Given the description of an element on the screen output the (x, y) to click on. 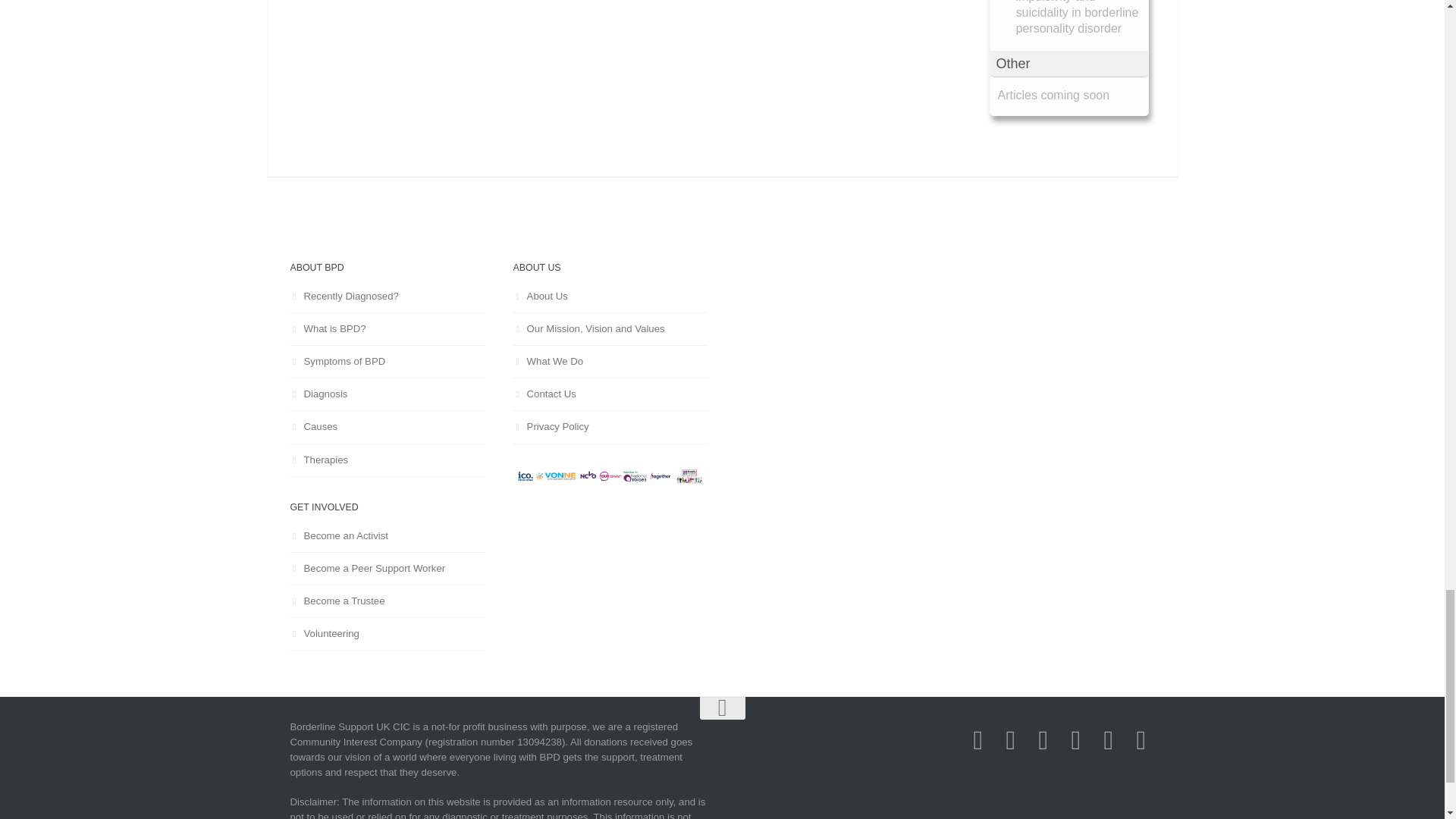
Follow us on Youtube (1107, 740)
Follow us on Twitter (1010, 740)
Follow us on Linkedin (1075, 740)
Follow us on Pinterest (1140, 740)
Follow us on Instagram (1043, 740)
Follow us on Facebook (977, 740)
